Given the description of an element on the screen output the (x, y) to click on. 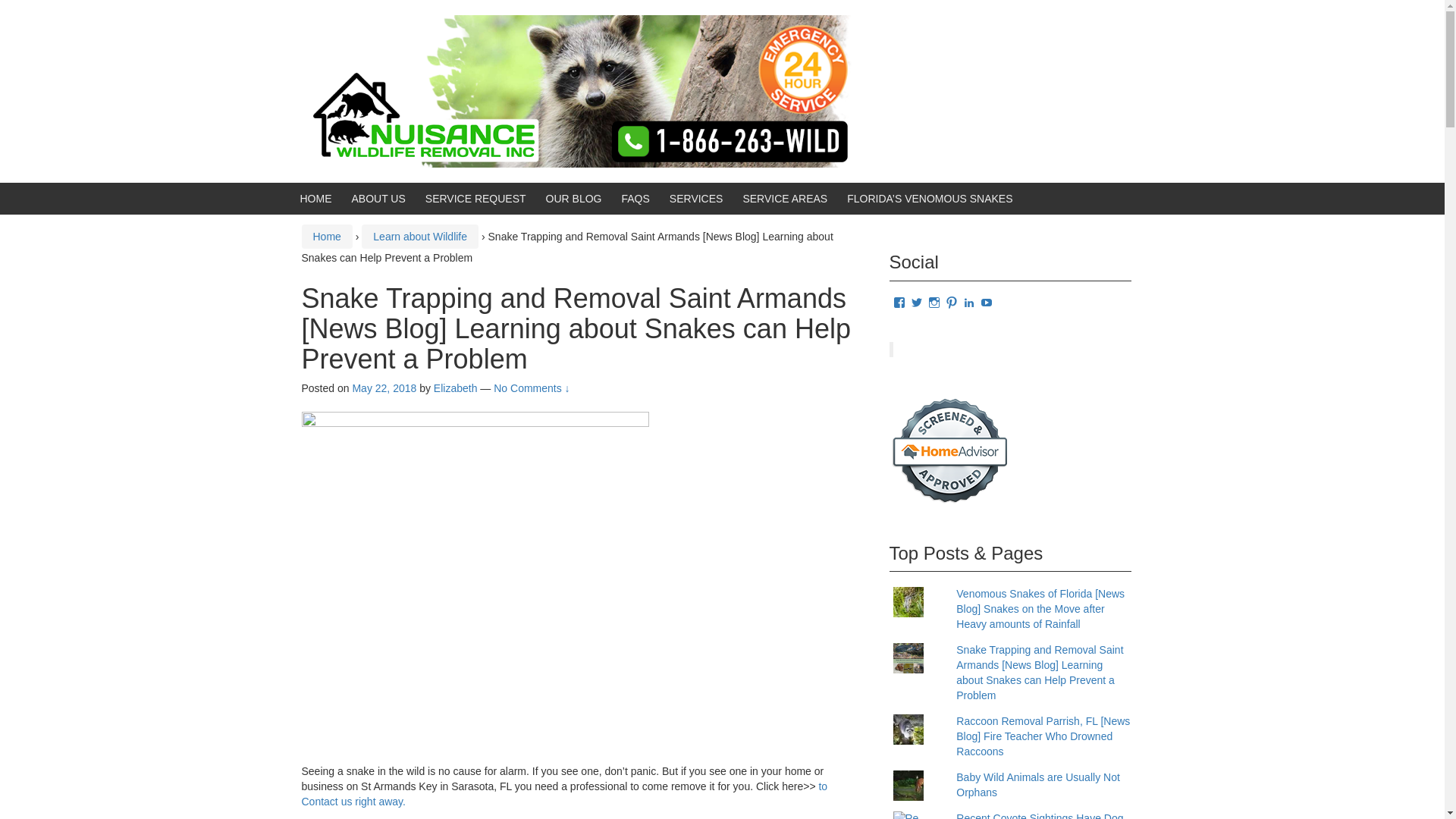
SERVICE REQUEST (475, 198)
4:24 pm (384, 387)
SERVICES (696, 198)
OUR BLOG (574, 198)
Wildlife Trapper (574, 90)
View all posts by Elizabeth (455, 387)
SERVICE AREAS (784, 198)
HOME (315, 198)
FAQS (635, 198)
ABOUT US (379, 198)
